Given the description of an element on the screen output the (x, y) to click on. 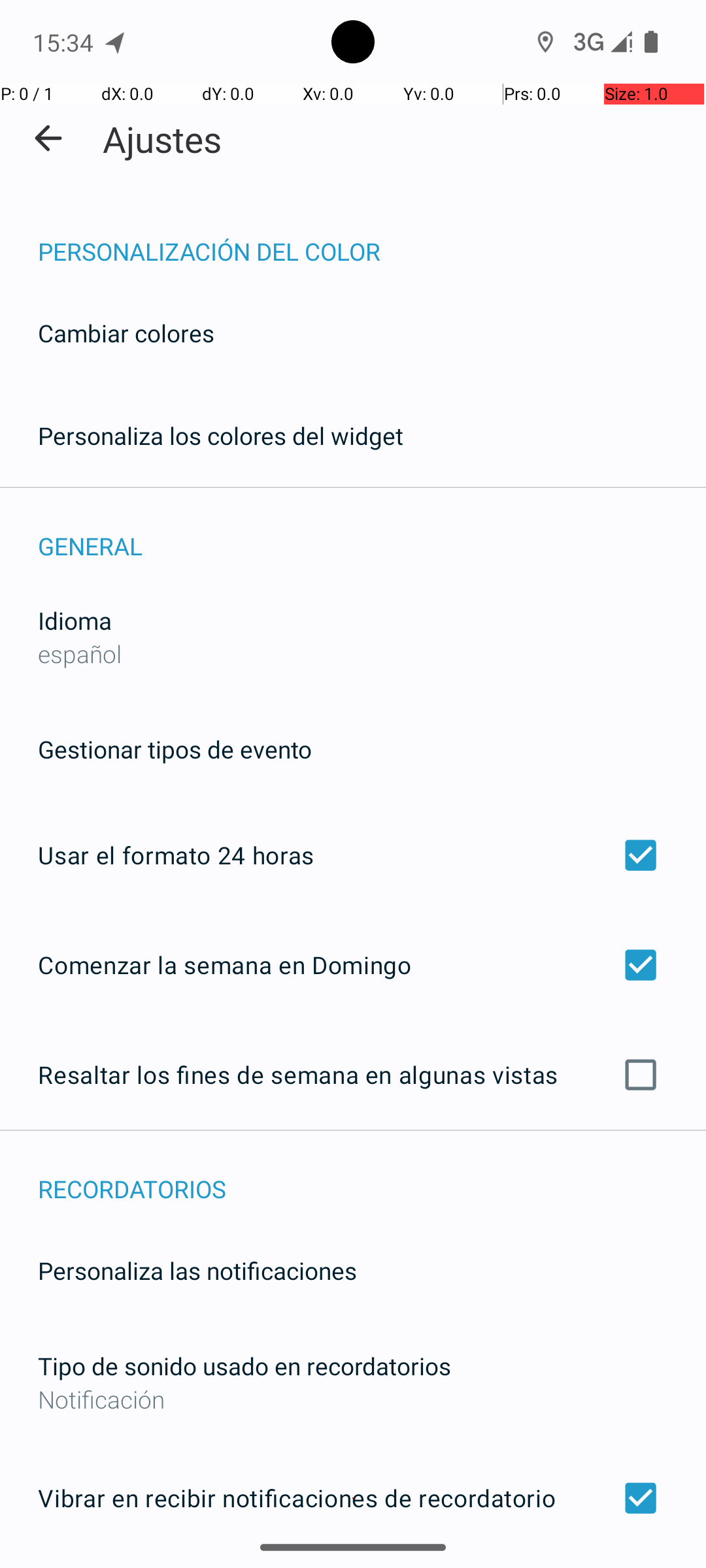
PERSONALIZACIÓN DEL COLOR Element type: android.widget.TextView (371, 237)
GENERAL Element type: android.widget.TextView (371, 532)
RECORDATORIOS Element type: android.widget.TextView (371, 1174)
Cambiar colores Element type: android.widget.TextView (125, 332)
Personaliza los colores del widget Element type: android.widget.TextView (220, 435)
Idioma Element type: android.widget.TextView (74, 620)
español Element type: android.widget.TextView (79, 653)
Gestionar tipos de evento Element type: android.widget.TextView (174, 748)
Usar el formato 24 horas Element type: android.widget.CheckBox (352, 855)
Comenzar la semana en Domingo Element type: android.widget.CheckBox (352, 964)
Resaltar los fines de semana en algunas vistas Element type: android.widget.CheckBox (352, 1074)
Personaliza las notificaciones Element type: android.widget.TextView (196, 1270)
Tipo de sonido usado en recordatorios Element type: android.widget.TextView (244, 1365)
Notificación Element type: android.widget.TextView (352, 1398)
Vibrar en recibir notificaciones de recordatorio Element type: android.widget.CheckBox (352, 1497)
Repetir recordatorios hasta ser descartados Element type: android.widget.CheckBox (352, 1567)
